Given the description of an element on the screen output the (x, y) to click on. 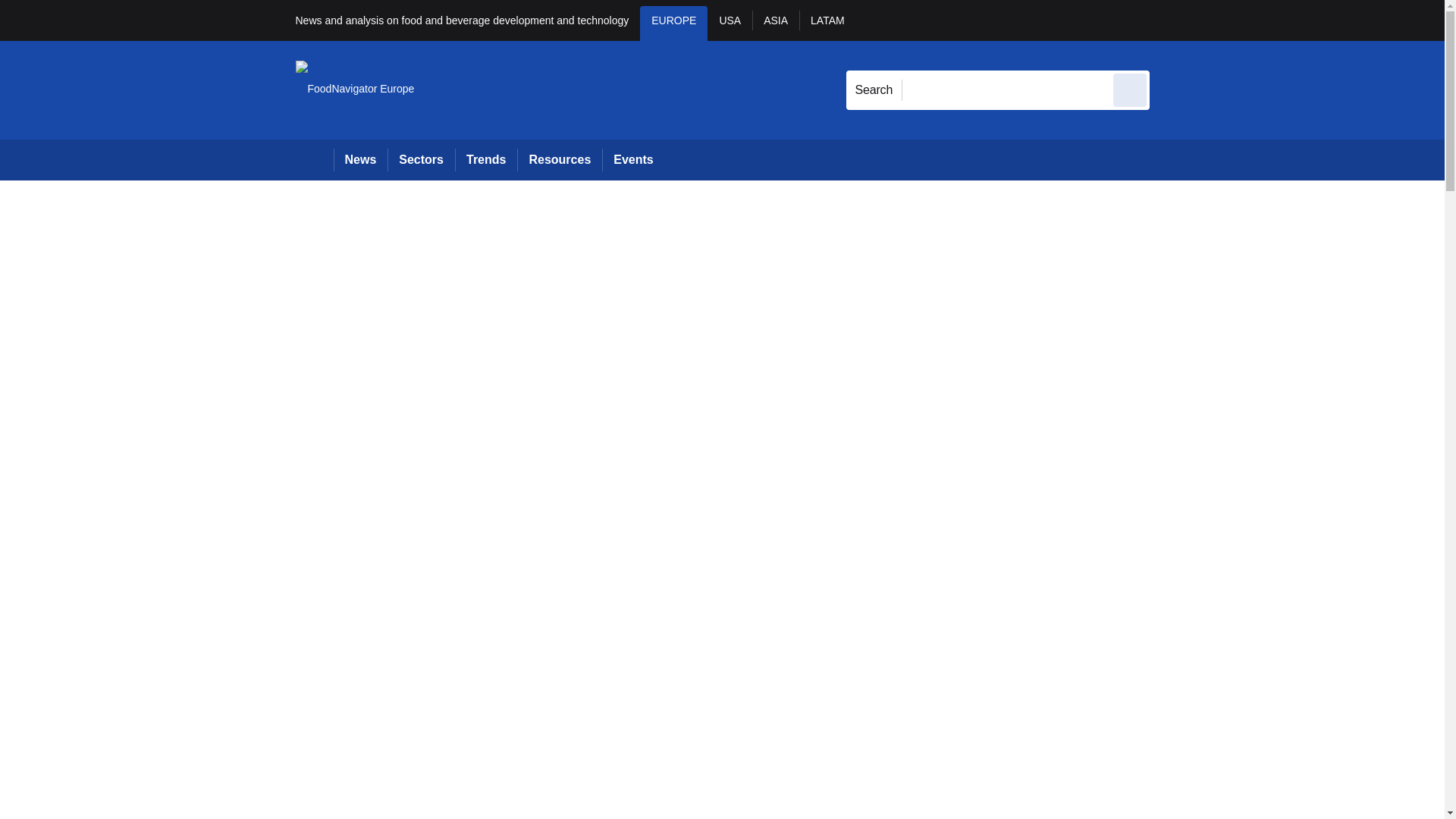
USA (729, 22)
FoodNavigator Europe (354, 89)
Sign out (1174, 20)
ASIA (775, 22)
My account (1256, 20)
Send (1129, 90)
Send (1129, 89)
Sign in (1171, 20)
Home (314, 159)
LATAM (827, 22)
